Given the description of an element on the screen output the (x, y) to click on. 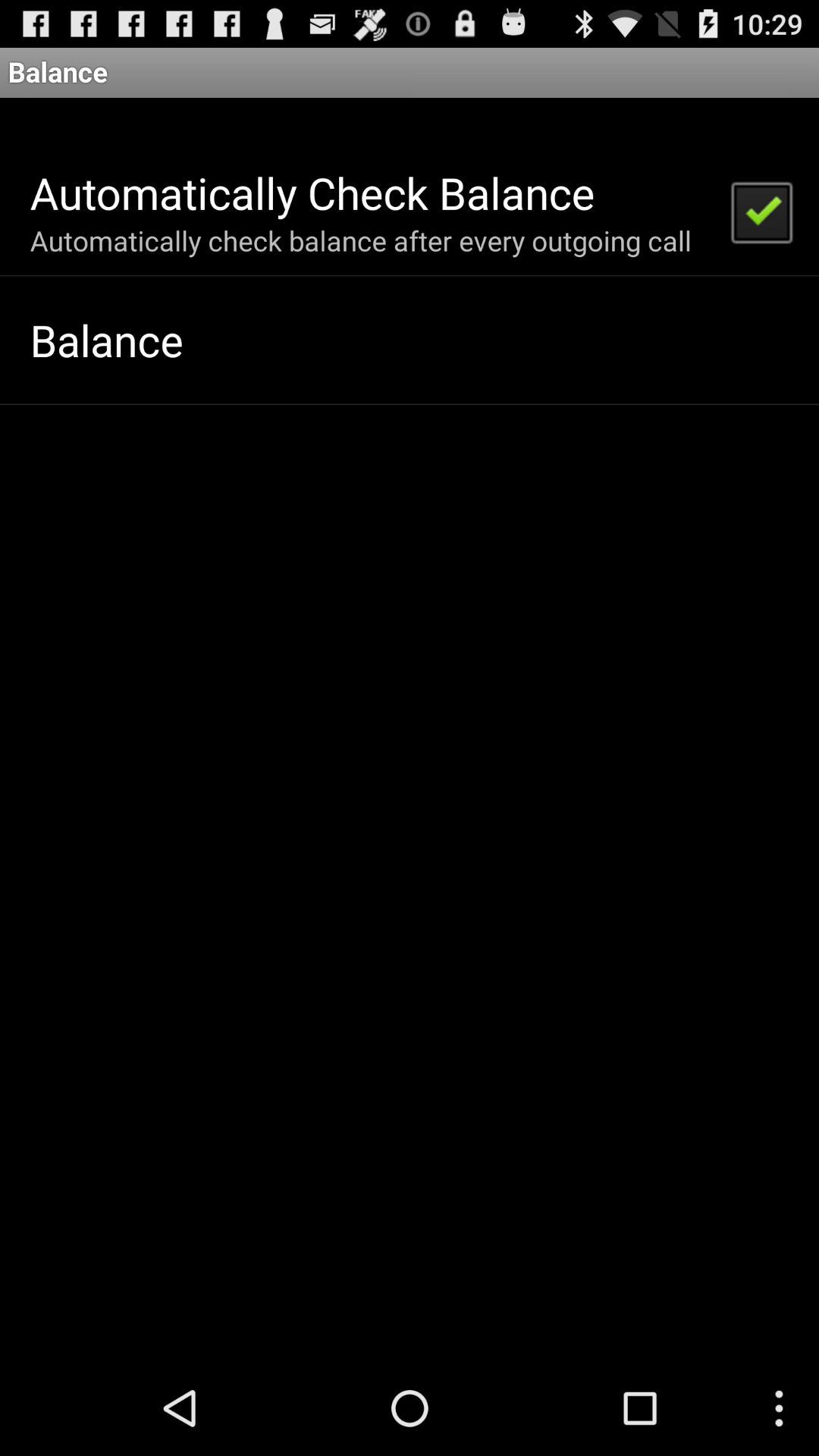
press icon to the right of the automatically check balance (761, 211)
